Given the description of an element on the screen output the (x, y) to click on. 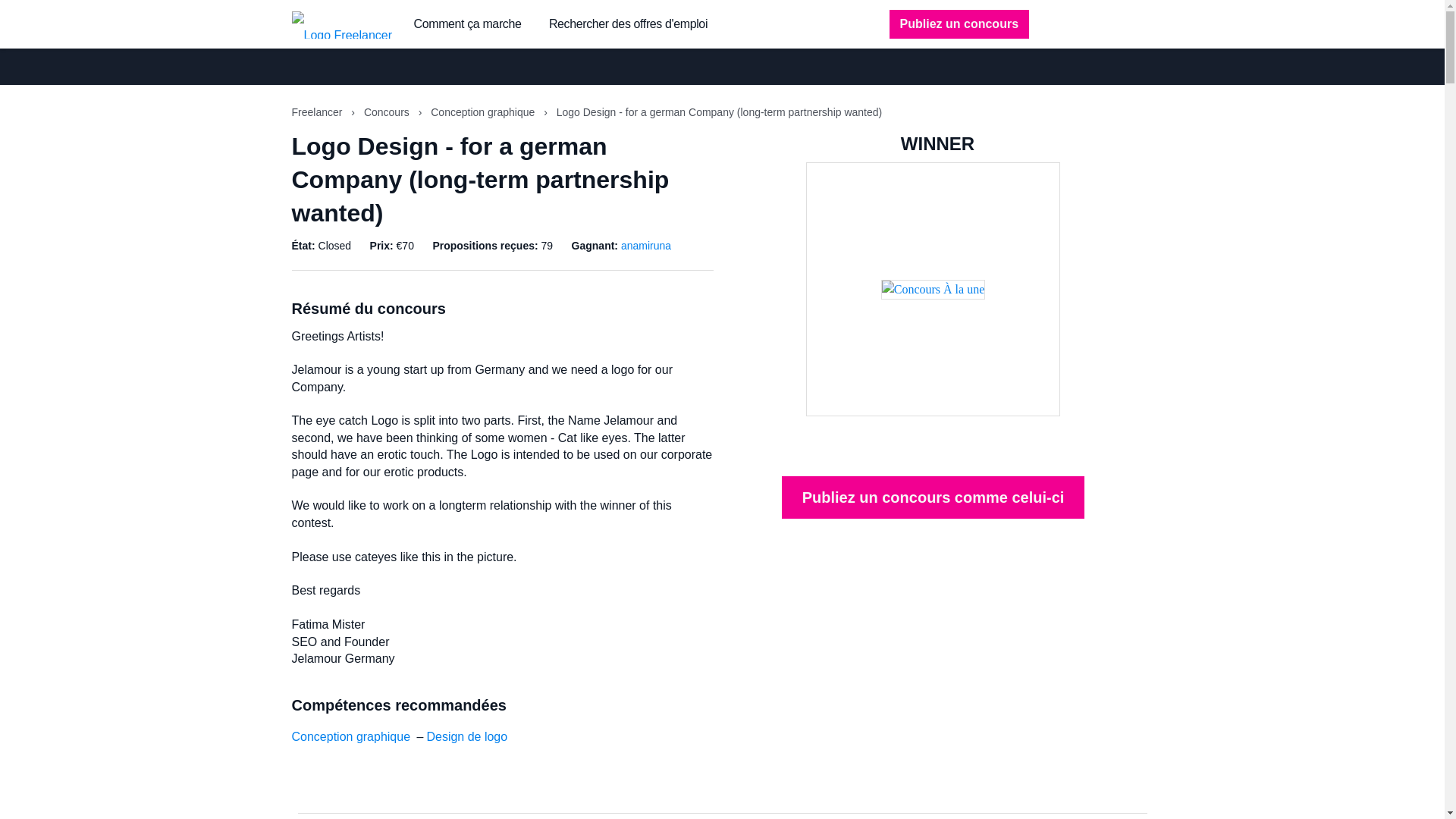
Concours (388, 111)
Design de logo (466, 736)
Conception graphique (483, 111)
Conception graphique (350, 736)
anamiruna (646, 245)
Publiez un concours comme celui-ci (932, 496)
Rechercher des offres d'emploi (627, 24)
Publiez un concours (959, 23)
Freelancer (318, 111)
